Given the description of an element on the screen output the (x, y) to click on. 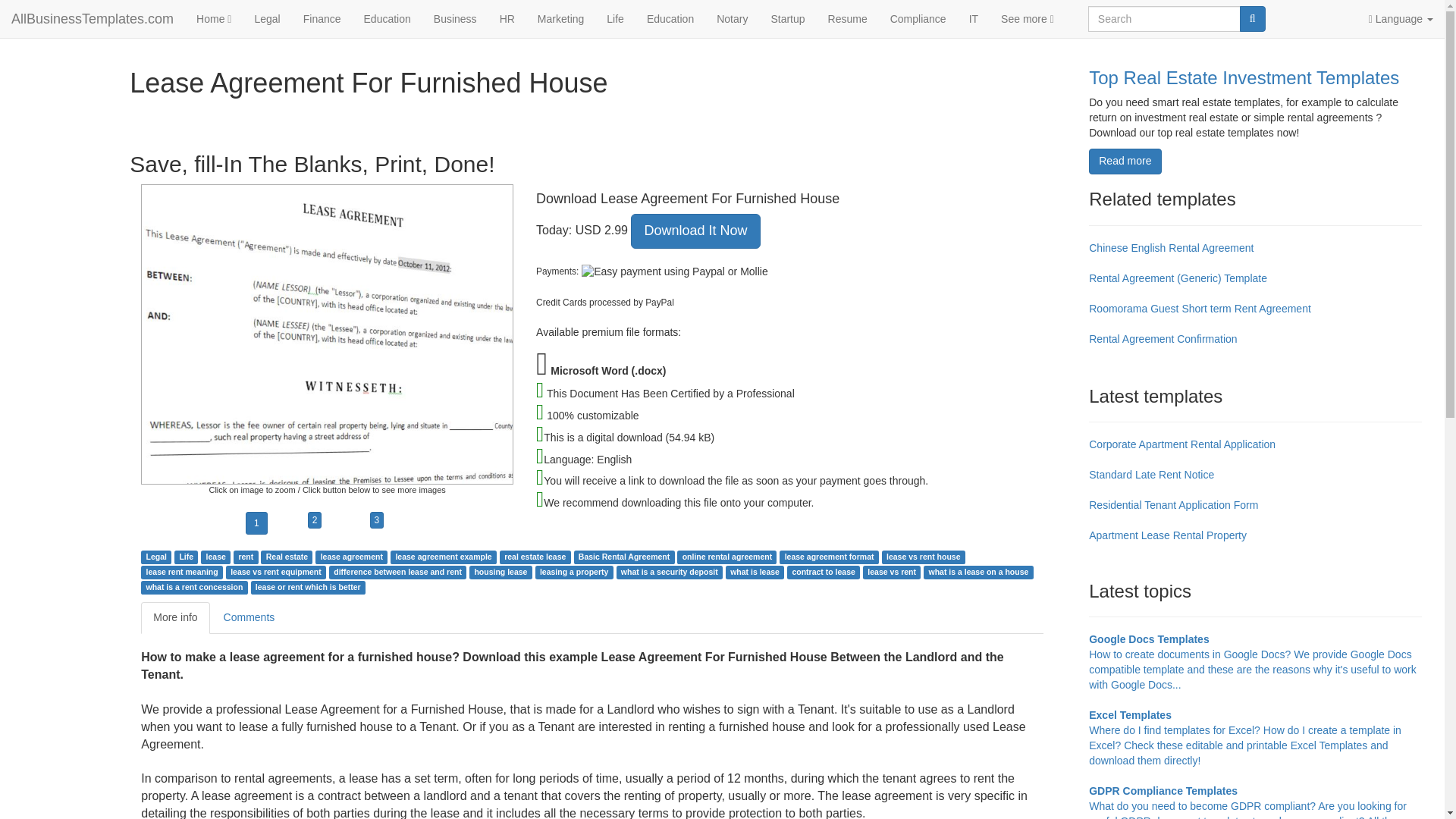
Business (454, 18)
Finance (322, 18)
Legal (157, 556)
Life (186, 556)
Education (387, 18)
AllBusinessTemplates.com (92, 18)
lease (215, 556)
